Given the description of an element on the screen output the (x, y) to click on. 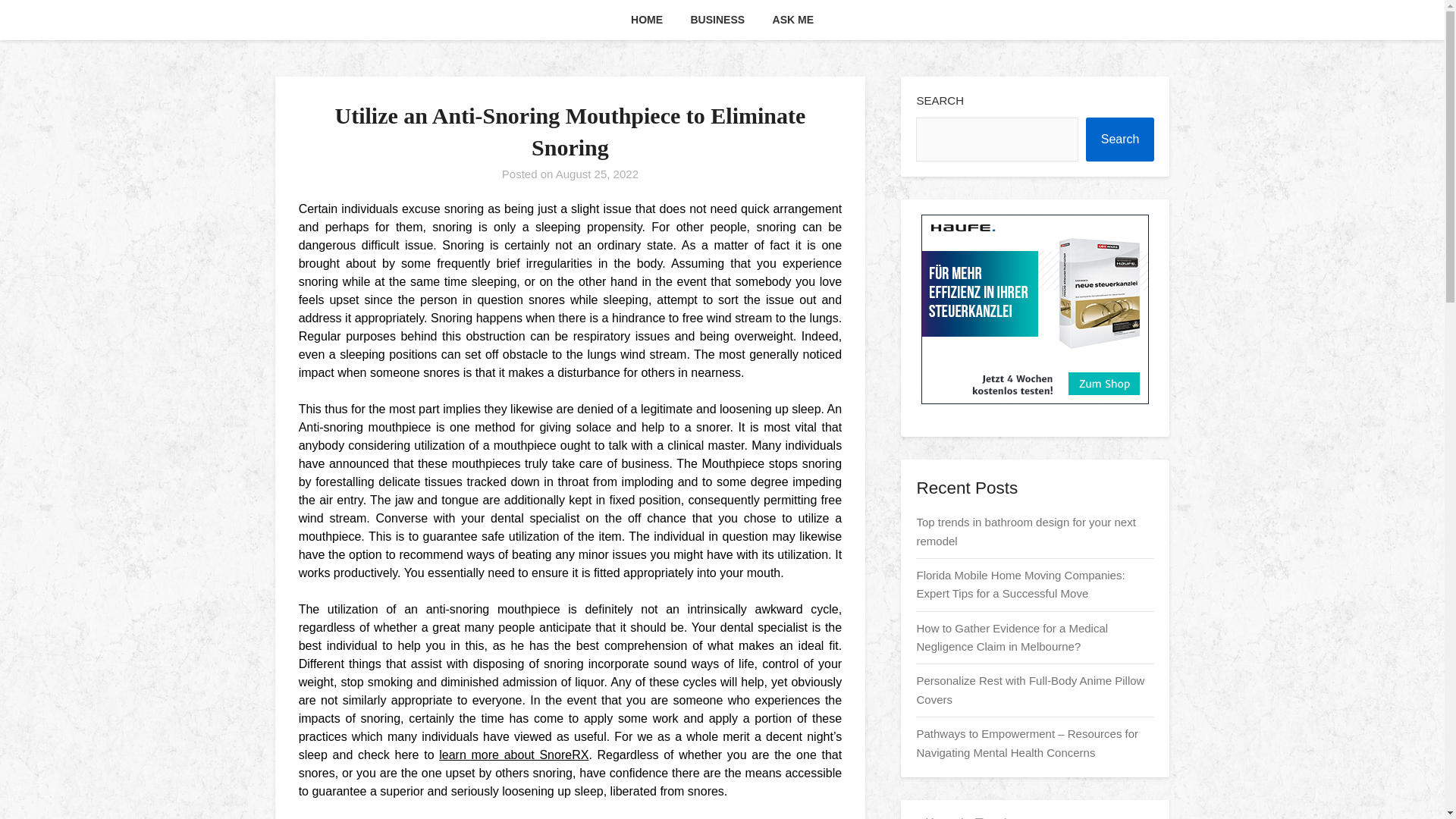
ASK ME (792, 20)
Top trends in bathroom design for your next remodel (1025, 531)
Personalize Rest with Full-Body Anime Pillow Covers (1029, 689)
BUSINESS (717, 20)
Search (1120, 139)
August 25, 2022 (597, 173)
HOME (646, 20)
learn more about SnoreRX (513, 754)
